Given the description of an element on the screen output the (x, y) to click on. 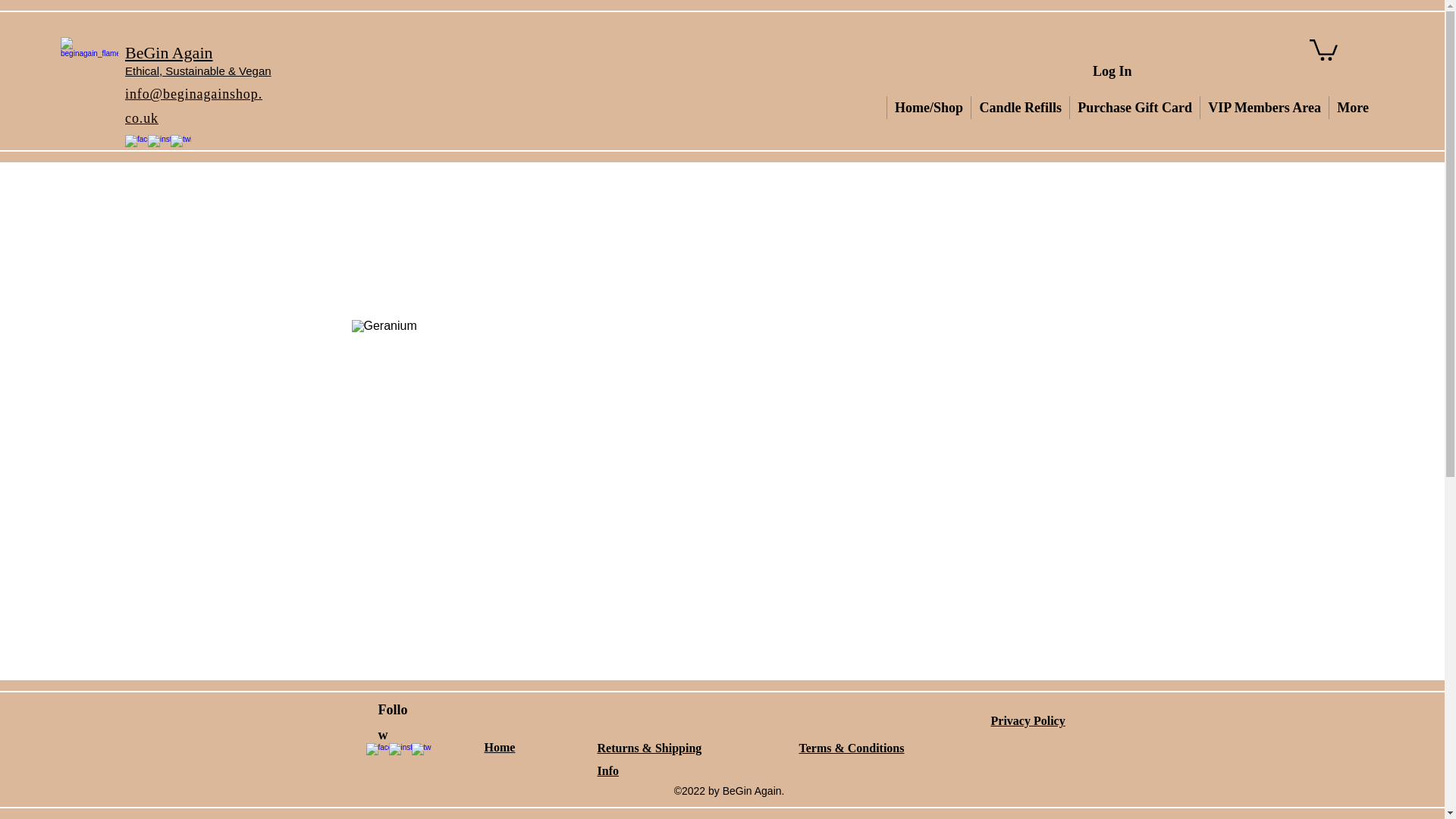
VIP Members Area (1146, 107)
Log In (1111, 71)
Purchase Gift Card (1049, 107)
BeGin Again (168, 52)
Loyalty (1351, 107)
Candle Refills (964, 107)
